Given the description of an element on the screen output the (x, y) to click on. 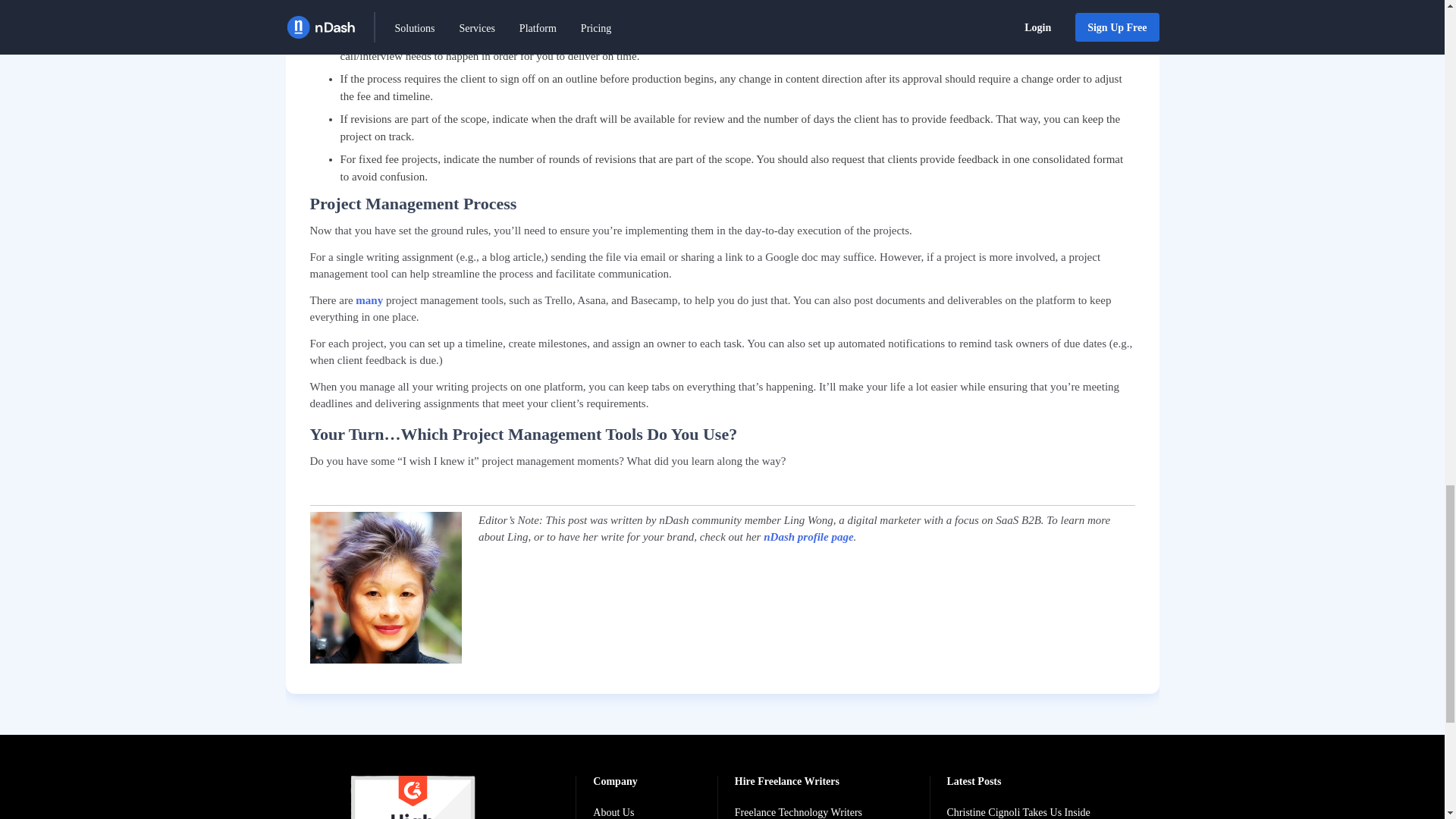
About Us (621, 812)
many (368, 300)
Freelance Technology Writers (799, 812)
nDash profile page (807, 536)
